Given the description of an element on the screen output the (x, y) to click on. 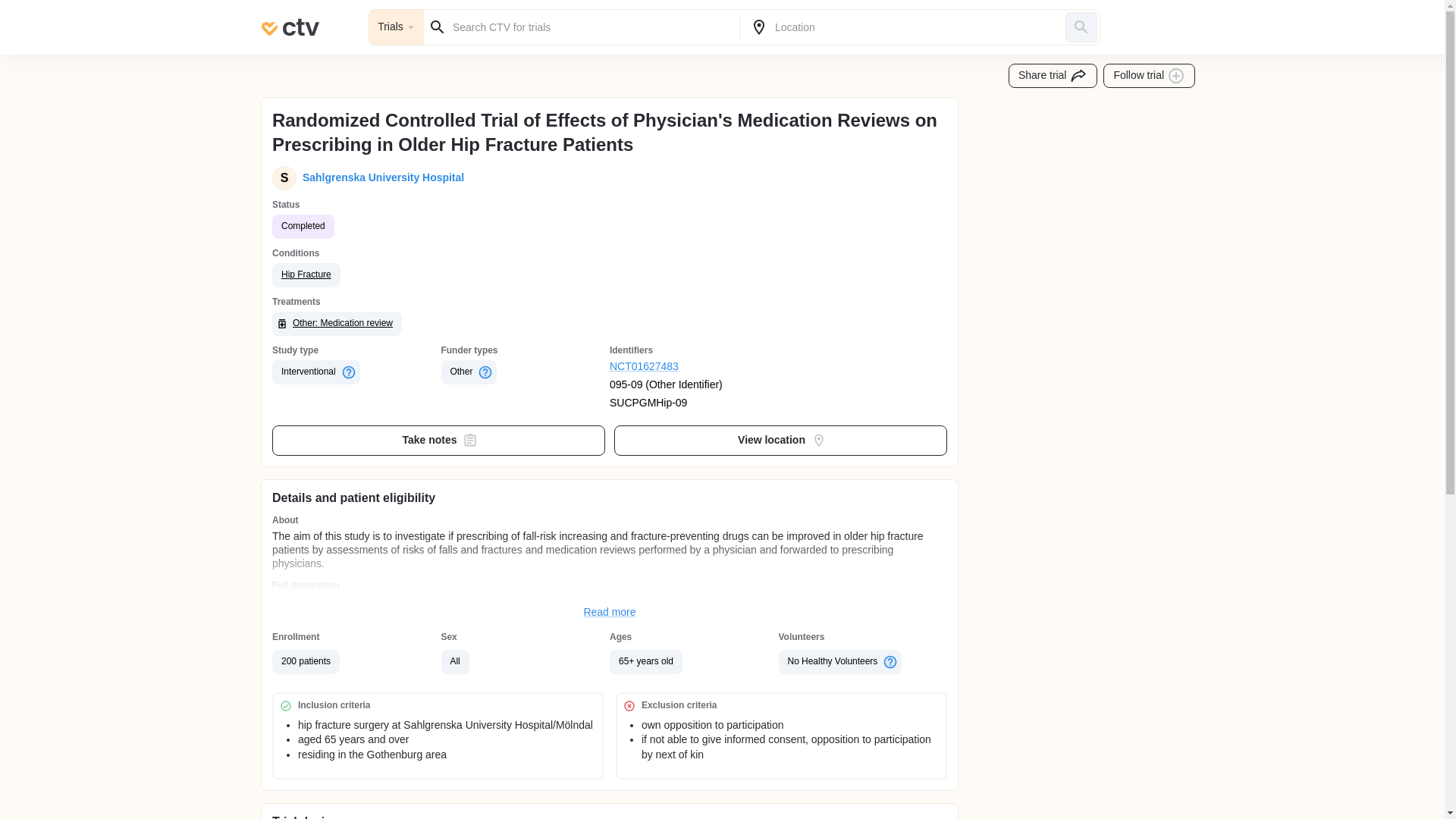
Take notes (438, 440)
Read more (609, 612)
Share trial (1053, 75)
Sahlgrenska University Hospital (380, 178)
Trials (396, 27)
NCT01627483 (694, 366)
Follow trial (1149, 75)
View location (780, 440)
